Given the description of an element on the screen output the (x, y) to click on. 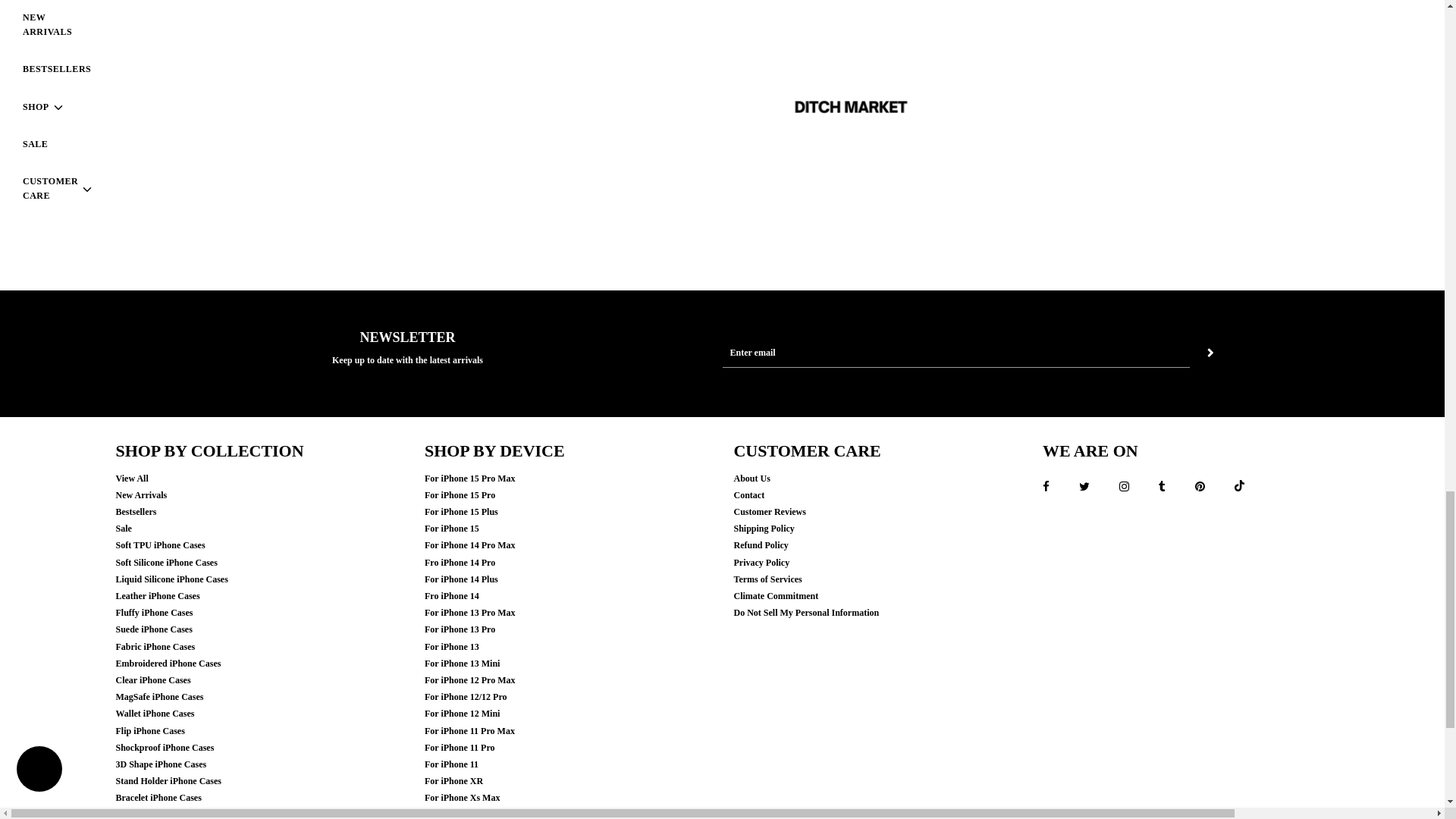
Lattice Black Soft Silicone iPhone Case (868, 68)
Embroidered Animal Bear iPhone Case (575, 68)
Translucent Brown iPhone Case (1159, 68)
Jelly Green Transparent iPhone Case (284, 68)
